Given the description of an element on the screen output the (x, y) to click on. 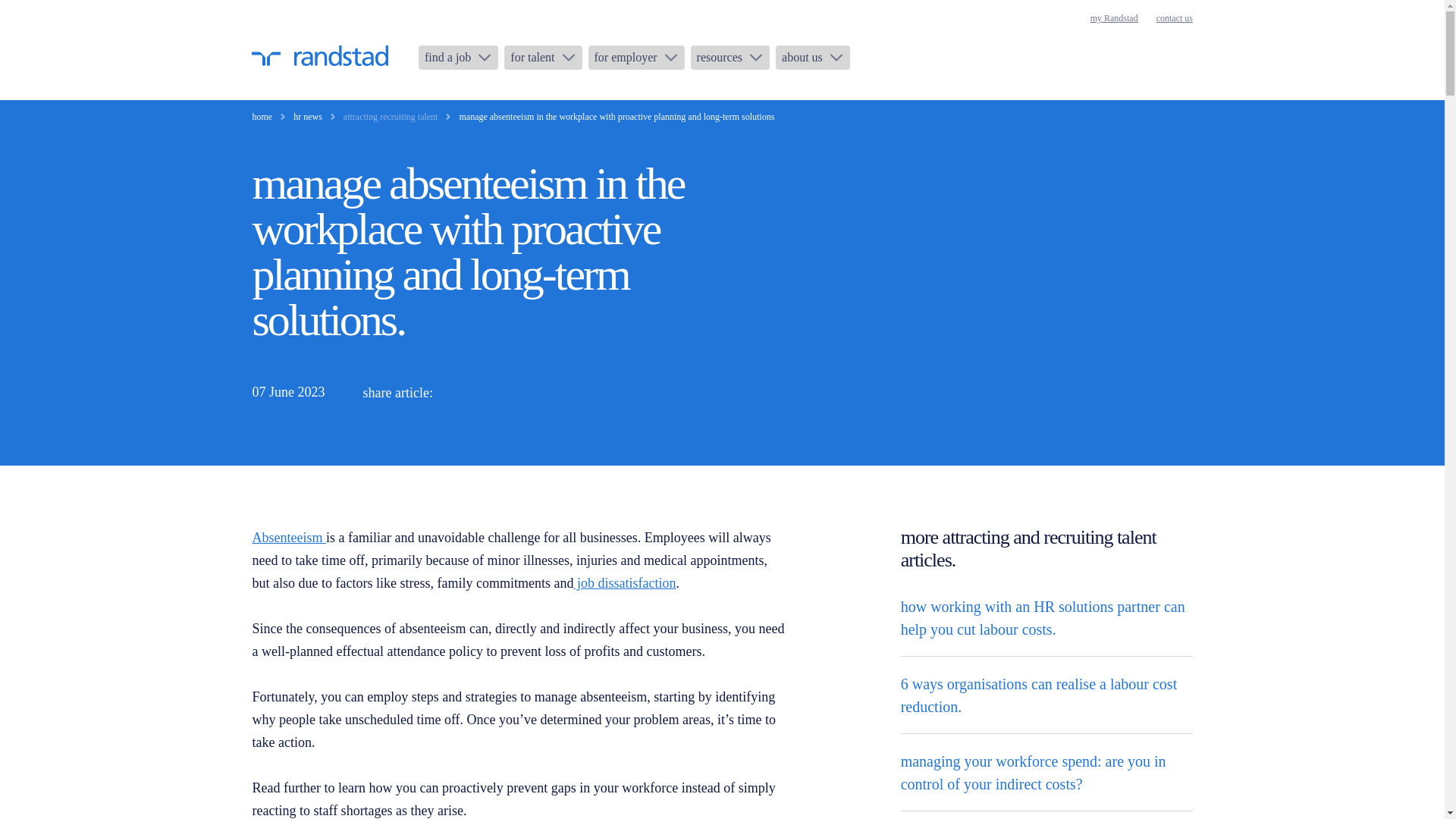
share this article on twitter (495, 392)
my Randstad (1114, 18)
for talent (541, 57)
share this article on linkedin (459, 392)
contact us (1174, 18)
find a job (458, 57)
share this article on facebook (531, 392)
